Given the description of an element on the screen output the (x, y) to click on. 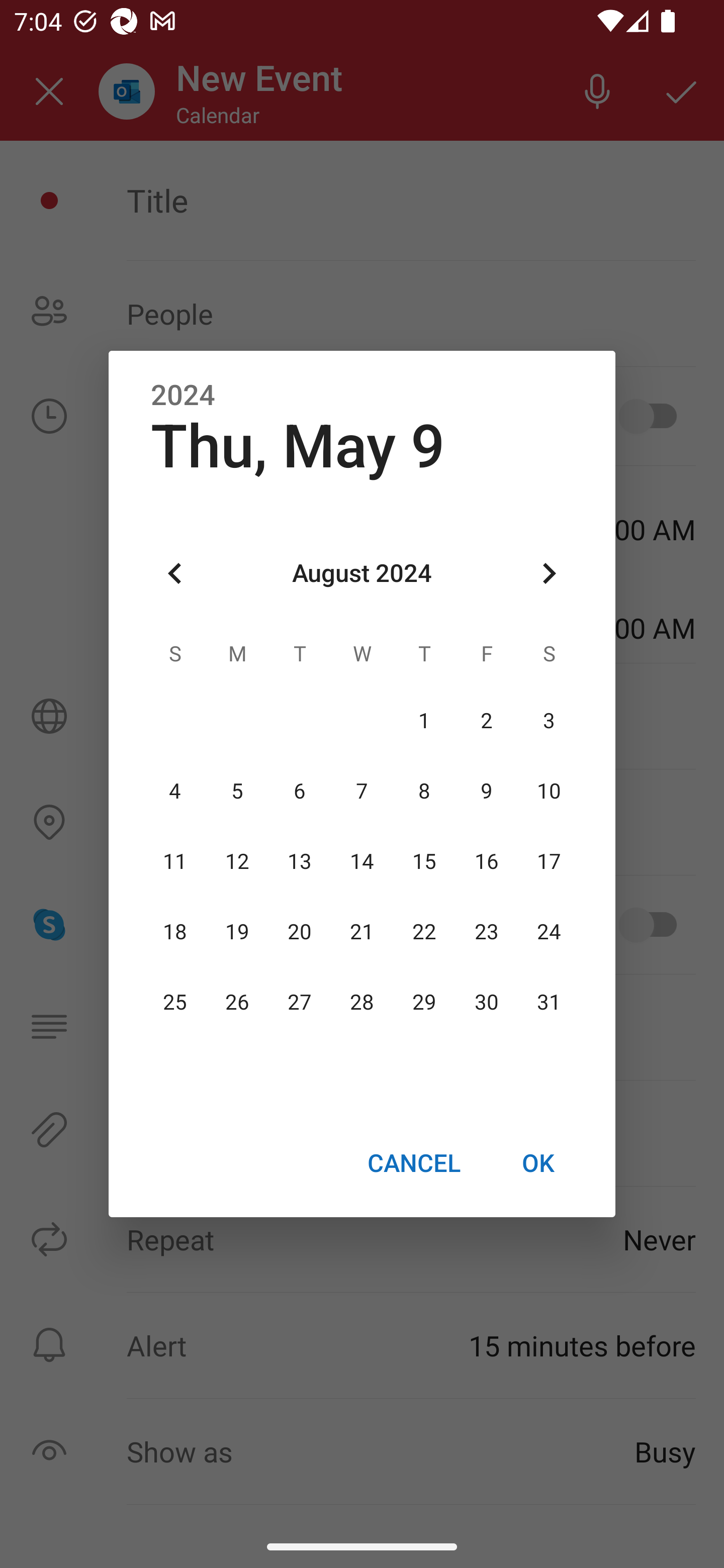
2024 (182, 395)
Thu, May 9 (297, 446)
Previous month (174, 573)
Next month (548, 573)
1 01 August 2024 (424, 720)
2 02 August 2024 (486, 720)
3 03 August 2024 (548, 720)
4 04 August 2024 (175, 790)
5 05 August 2024 (237, 790)
6 06 August 2024 (299, 790)
7 07 August 2024 (361, 790)
8 08 August 2024 (424, 790)
9 09 August 2024 (486, 790)
10 10 August 2024 (548, 790)
11 11 August 2024 (175, 861)
12 12 August 2024 (237, 861)
13 13 August 2024 (299, 861)
14 14 August 2024 (361, 861)
15 15 August 2024 (424, 861)
16 16 August 2024 (486, 861)
17 17 August 2024 (548, 861)
18 18 August 2024 (175, 931)
19 19 August 2024 (237, 931)
20 20 August 2024 (299, 931)
21 21 August 2024 (361, 931)
22 22 August 2024 (424, 931)
23 23 August 2024 (486, 931)
24 24 August 2024 (548, 931)
25 25 August 2024 (175, 1002)
26 26 August 2024 (237, 1002)
27 27 August 2024 (299, 1002)
28 28 August 2024 (361, 1002)
29 29 August 2024 (424, 1002)
30 30 August 2024 (486, 1002)
31 31 August 2024 (548, 1002)
CANCEL (413, 1162)
OK (537, 1162)
